Given the description of an element on the screen output the (x, y) to click on. 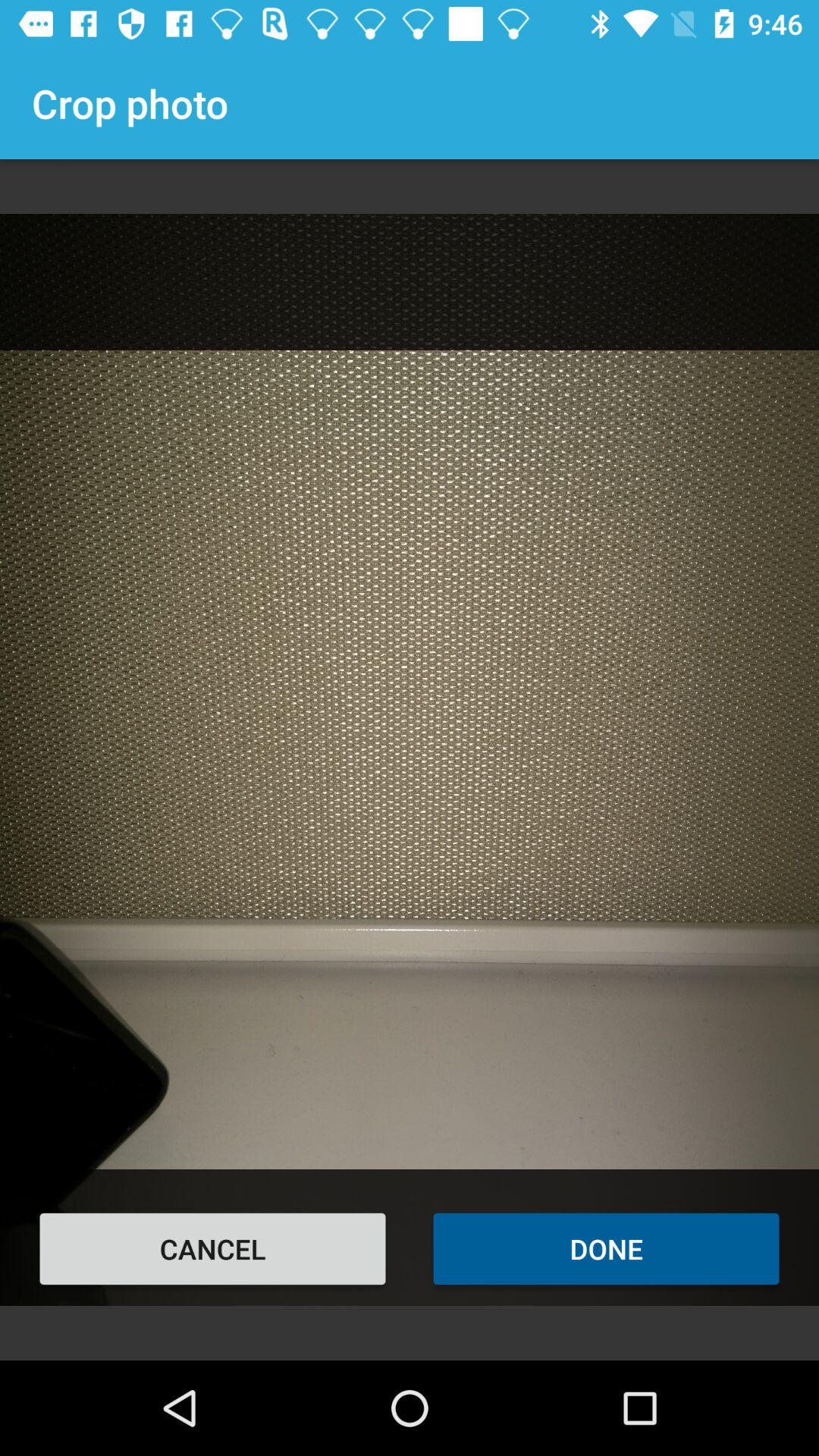
jump until the cancel item (212, 1248)
